Given the description of an element on the screen output the (x, y) to click on. 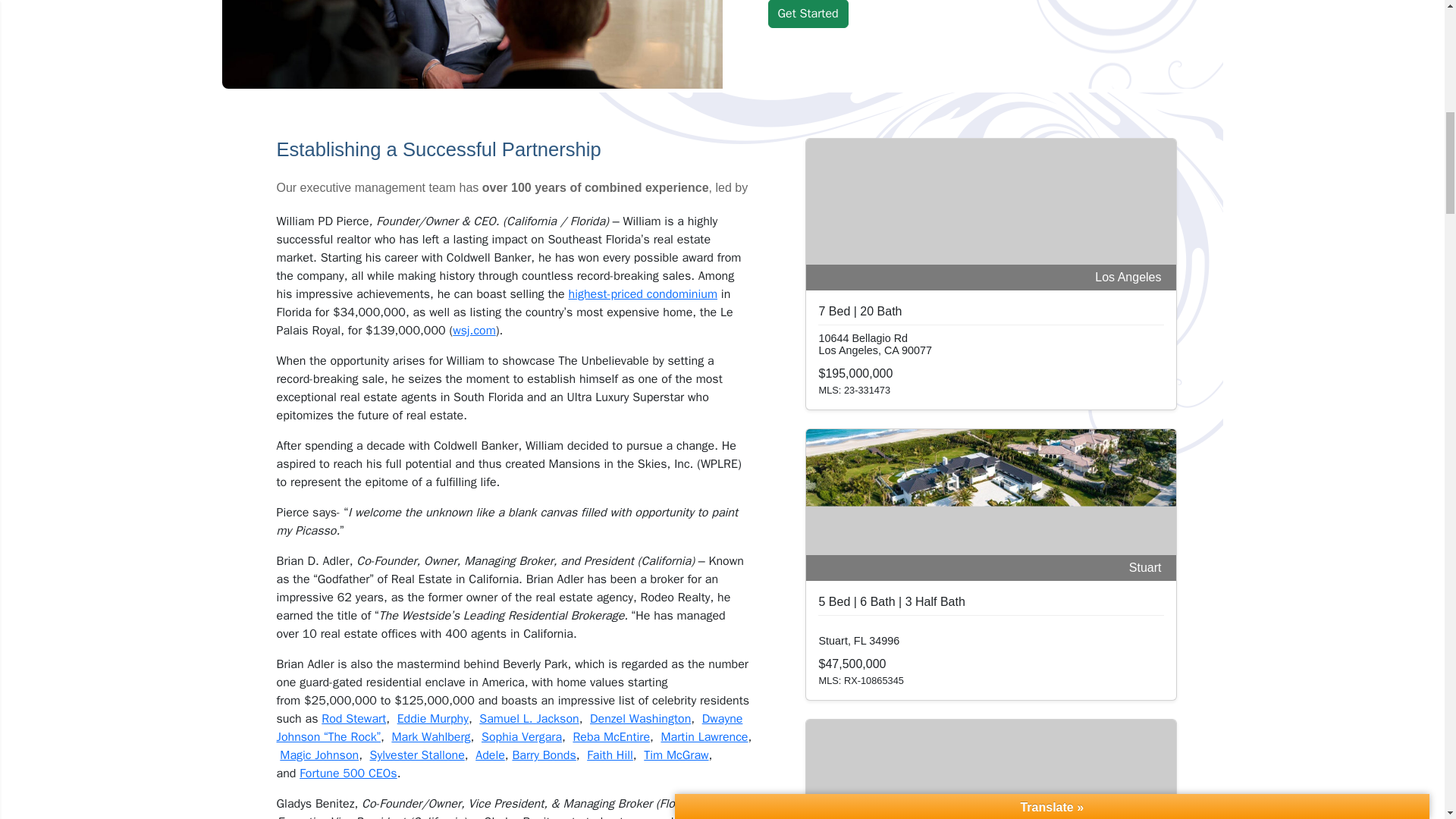
highest-priced condominium (643, 294)
Eddie Murphy (432, 718)
Get Started (807, 13)
Rod Stewart (353, 718)
wsj.com (474, 330)
